Given the description of an element on the screen output the (x, y) to click on. 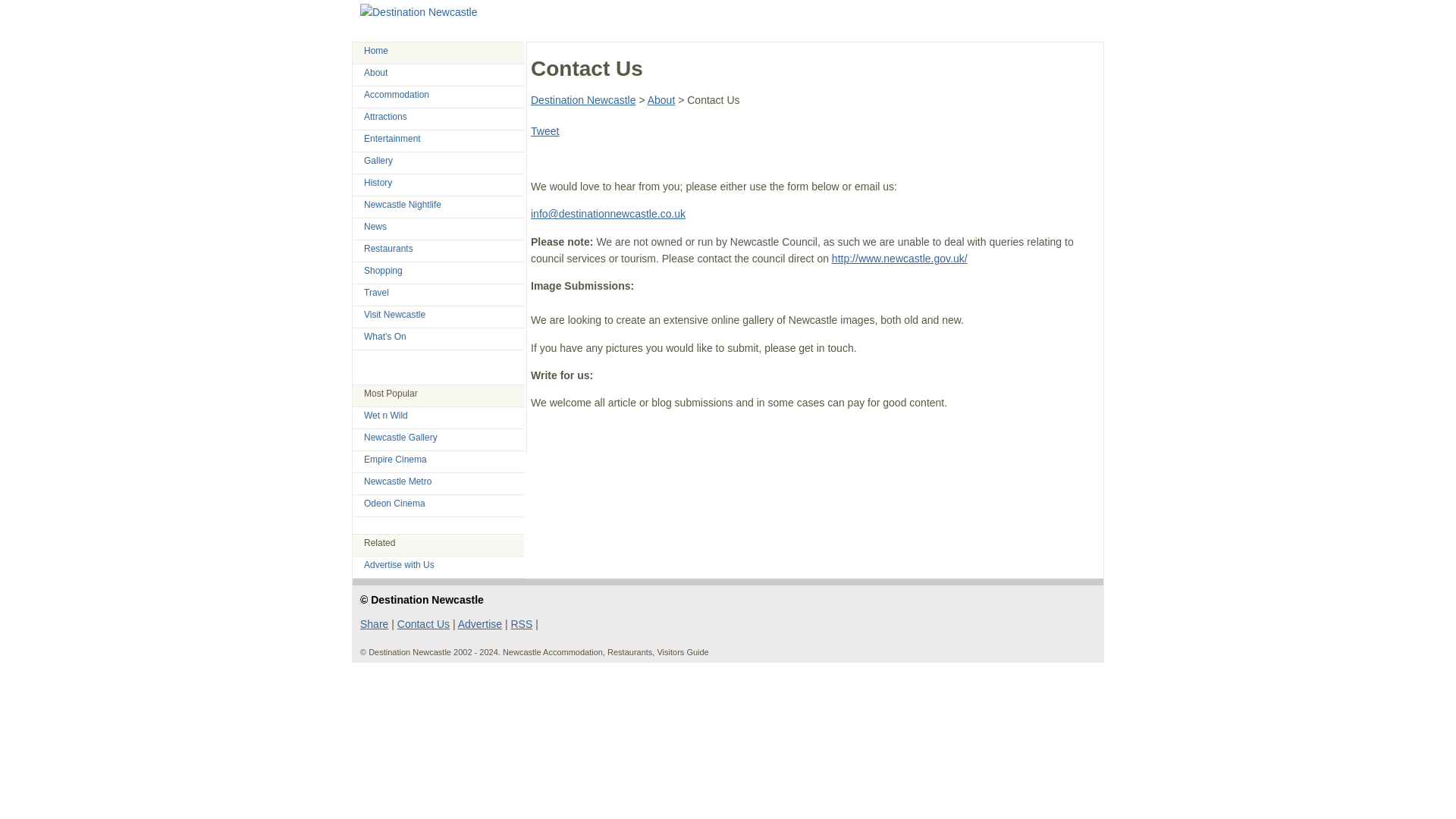
News (375, 226)
Tweet (545, 131)
Advertise (480, 623)
Advertise with Us (398, 564)
RSS (521, 623)
Wet n Wild (385, 415)
Gallery (378, 160)
Restaurants (388, 248)
Home (376, 50)
Attractions (385, 116)
